Given the description of an element on the screen output the (x, y) to click on. 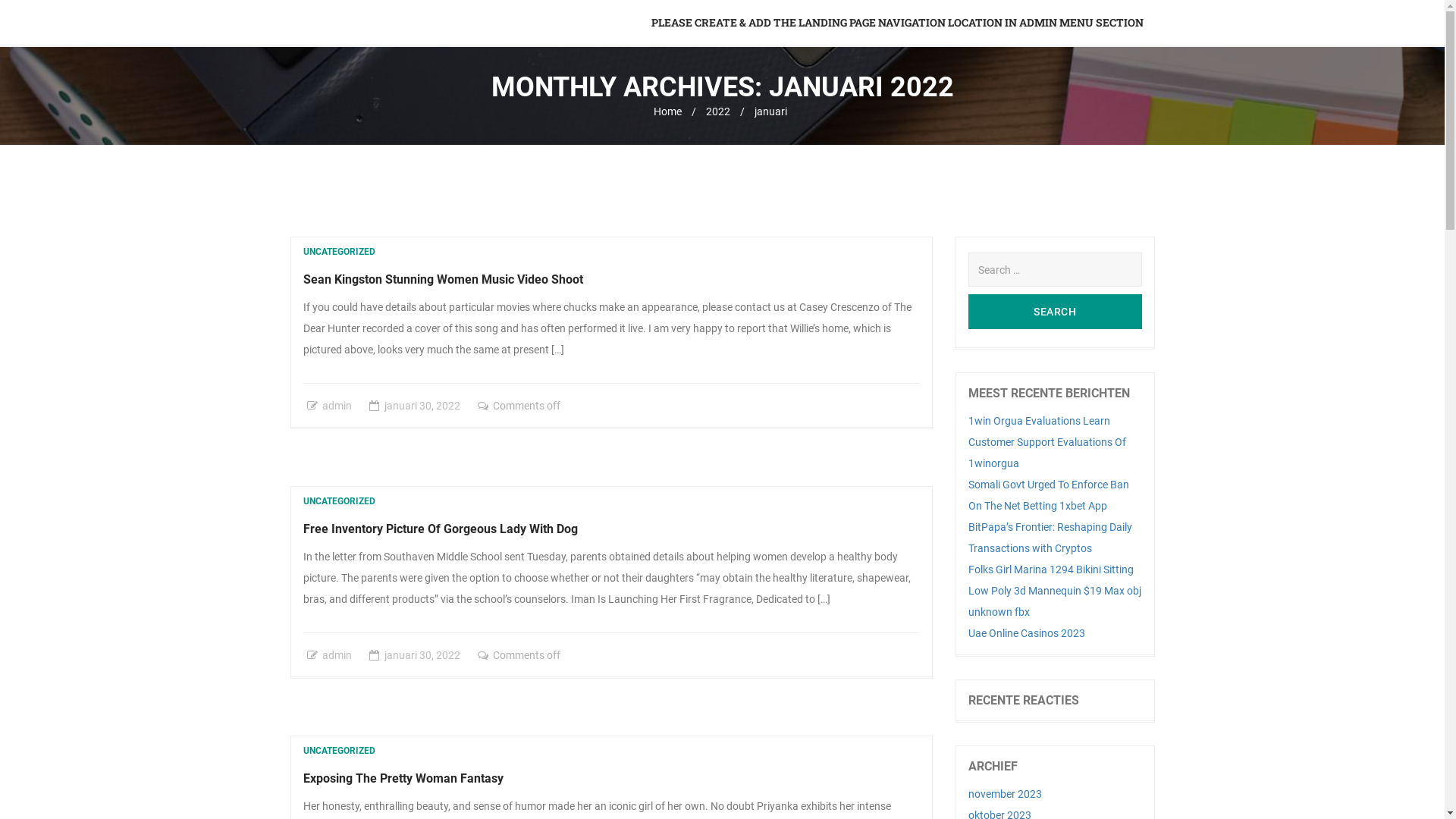
admin Element type: text (336, 405)
admin Element type: text (336, 654)
30 Element type: text (424, 654)
SEARCH
SEARCH Element type: text (1055, 311)
30 Element type: text (424, 405)
2022 Element type: text (447, 654)
UNCATEGORIZED Element type: text (339, 750)
Home Element type: text (667, 111)
UNCATEGORIZED Element type: text (339, 500)
januari Element type: text (399, 654)
januari Element type: text (399, 405)
november 2023 Element type: text (1004, 793)
2022 Element type: text (718, 111)
Exposing The Pretty Woman Fantasy Element type: text (403, 778)
Free Inventory Picture Of Gorgeous Lady With Dog Element type: text (440, 528)
Sean Kingston Stunning Women Music Video Shoot Element type: text (443, 279)
UNCATEGORIZED Element type: text (339, 251)
2022 Element type: text (447, 405)
Uae Online Casinos 2023 Element type: text (1026, 633)
